Given the description of an element on the screen output the (x, y) to click on. 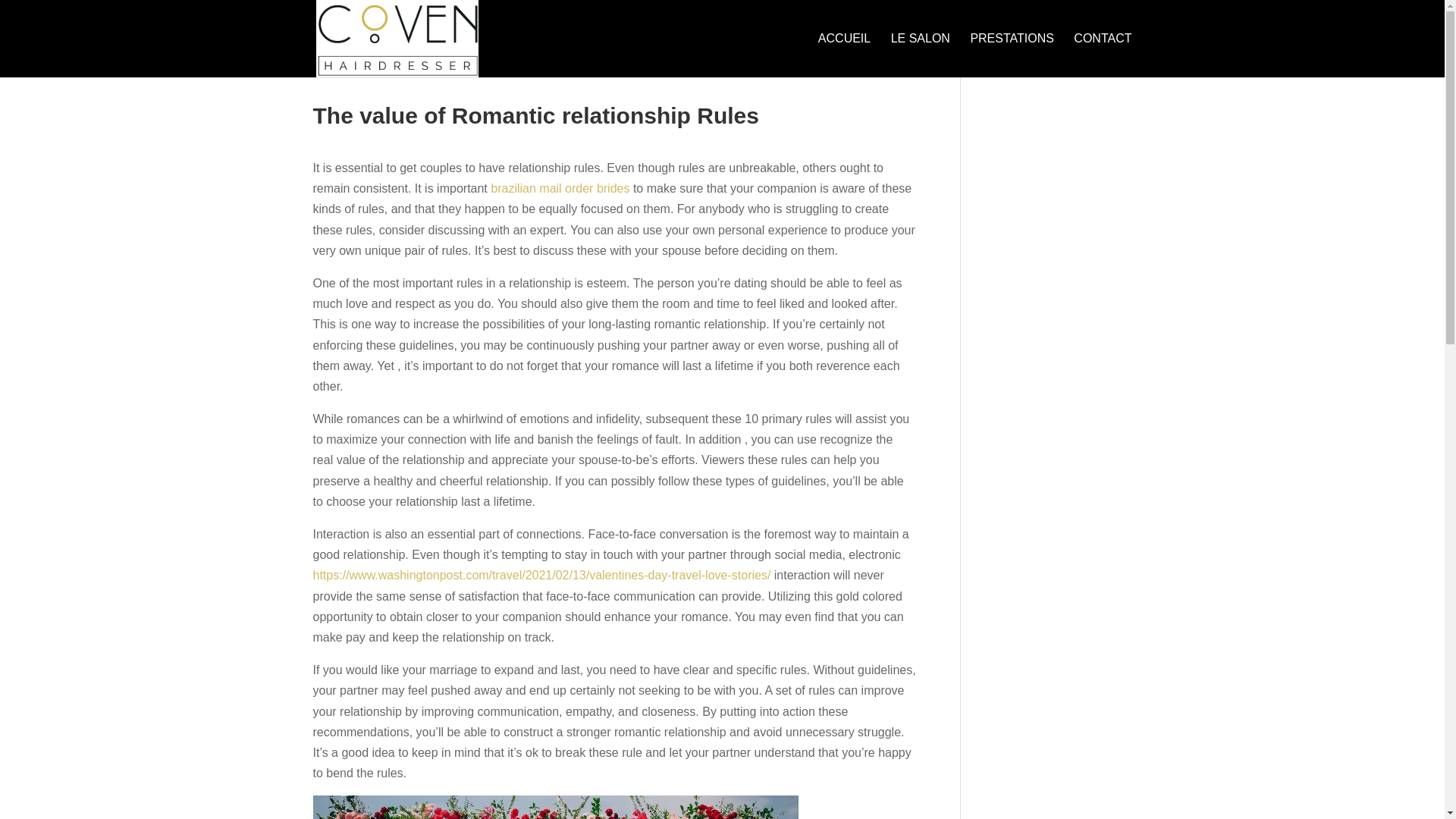
CONTACT (1102, 54)
ACCUEIL (844, 54)
LE SALON (920, 54)
brazilian mail order brides (559, 187)
PRESTATIONS (1011, 54)
